Given the description of an element on the screen output the (x, y) to click on. 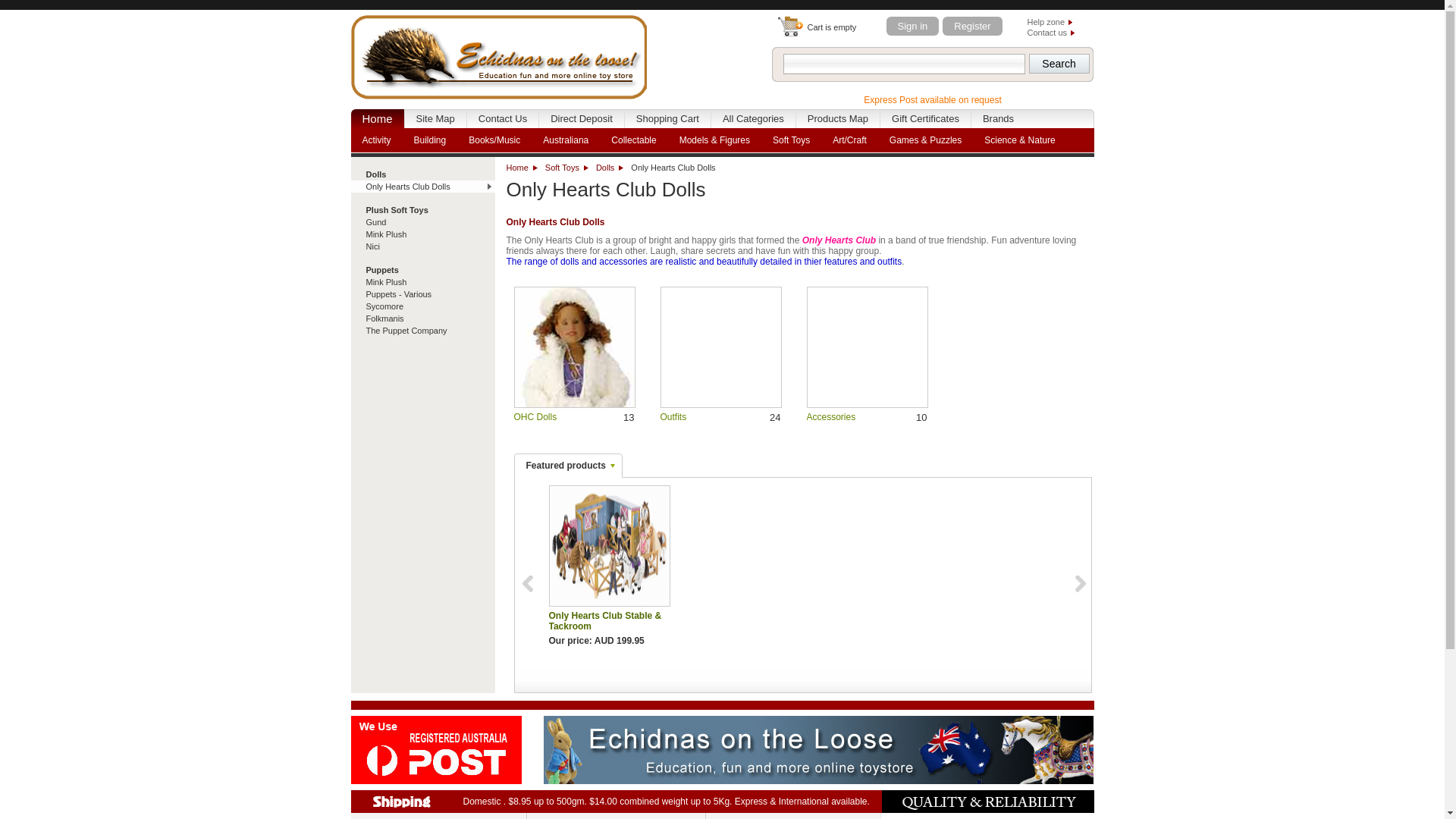
Register Element type: text (971, 25)
OHC Dolls Element type: text (535, 416)
All Categories Element type: text (753, 118)
Search Element type: text (1058, 63)
The Puppet Company Element type: text (422, 330)
Puppets Element type: text (422, 269)
Science & Nature Element type: text (1019, 140)
Art/Craft Element type: text (849, 140)
Nici Element type: text (422, 246)
Building Element type: text (430, 140)
Accessories Element type: text (831, 416)
Home Element type: text (376, 118)
Puppets - Various Element type: text (422, 294)
Contact us Element type: text (1050, 32)
OHC Dolls Element type: hover (574, 346)
Outfits Element type: text (672, 416)
Sign in Element type: text (911, 25)
Books/Music Element type: text (494, 140)
Only Hearts Club Dolls Element type: text (422, 186)
Site Map Element type: text (435, 118)
Contact Us Element type: text (502, 118)
Dolls Element type: text (609, 167)
Games & Puzzles Element type: text (925, 140)
Sycomore Element type: text (422, 306)
Featured products Element type: text (567, 465)
Only Hearts Club Stable & Tackroom Element type: text (605, 620)
Brands Element type: text (998, 118)
Folkmanis Element type: text (422, 318)
Accessories Element type: hover (867, 346)
Only Hearts Club Stable & Tackroom Element type: hover (608, 545)
Soft Toys Element type: text (566, 167)
Gund Element type: text (422, 222)
Gift Certificates Element type: text (925, 118)
Models & Figures Element type: text (714, 140)
Help zone Element type: text (1049, 21)
Direct Deposit Element type: text (581, 118)
Shopping Cart Element type: text (667, 118)
Outfits Element type: hover (720, 346)
Echidnas on the loose Element type: hover (498, 54)
Mink Plush Element type: text (422, 282)
Home Element type: text (521, 167)
Australiana Element type: text (565, 140)
Plush Soft Toys Element type: text (422, 209)
Products Map Element type: text (837, 118)
Dolls Element type: text (422, 174)
Only Hearts Club Stable & Tackroom Element type: hover (609, 545)
Mink Plush Element type: text (422, 234)
Activity Element type: text (375, 140)
Collectable Element type: text (633, 140)
Soft Toys Element type: text (791, 140)
